Given the description of an element on the screen output the (x, y) to click on. 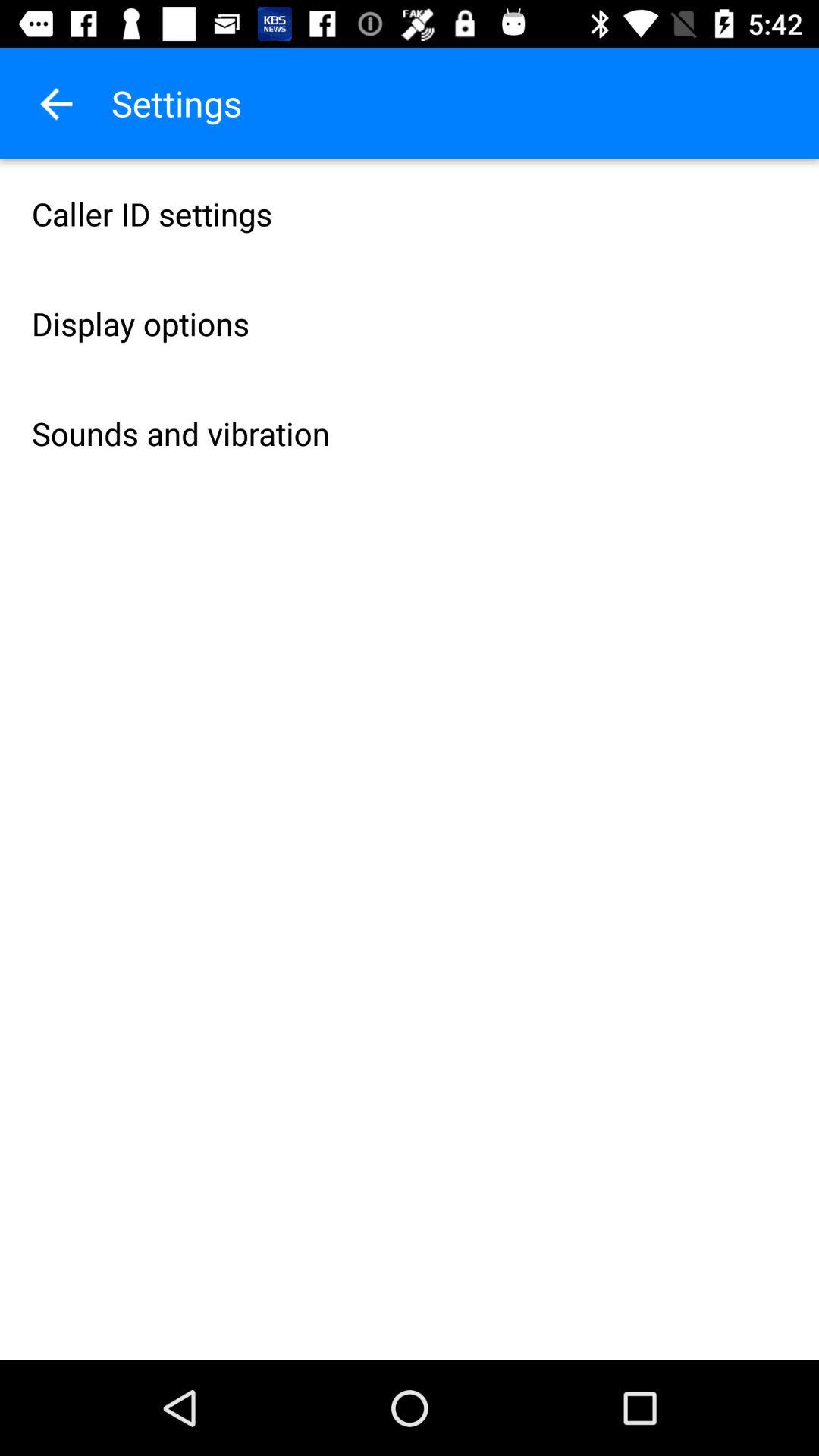
open sounds and vibration icon (409, 433)
